Given the description of an element on the screen output the (x, y) to click on. 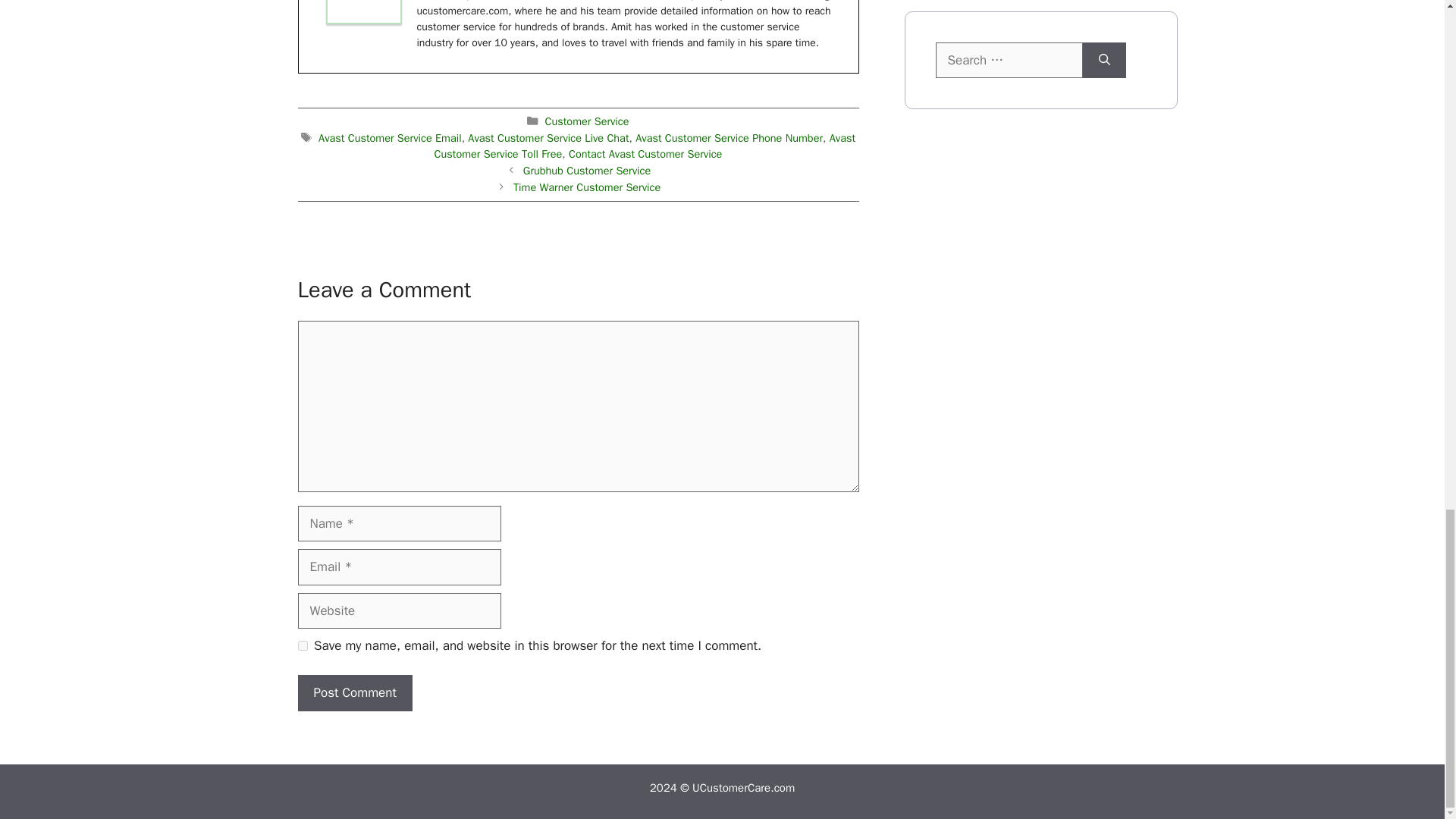
Post Comment (354, 692)
Avast Customer Service Toll Free (644, 145)
Post Comment (354, 692)
Avast Customer Service Phone Number (728, 137)
Grubhub Customer Service (586, 170)
Time Warner Customer Service (587, 187)
Customer Service (586, 120)
yes (302, 645)
Next (587, 187)
Contact Avast Customer Service (645, 153)
Avast Customer Service Live Chat (547, 137)
Avast Customer Service Email (389, 137)
Previous (586, 170)
